Given the description of an element on the screen output the (x, y) to click on. 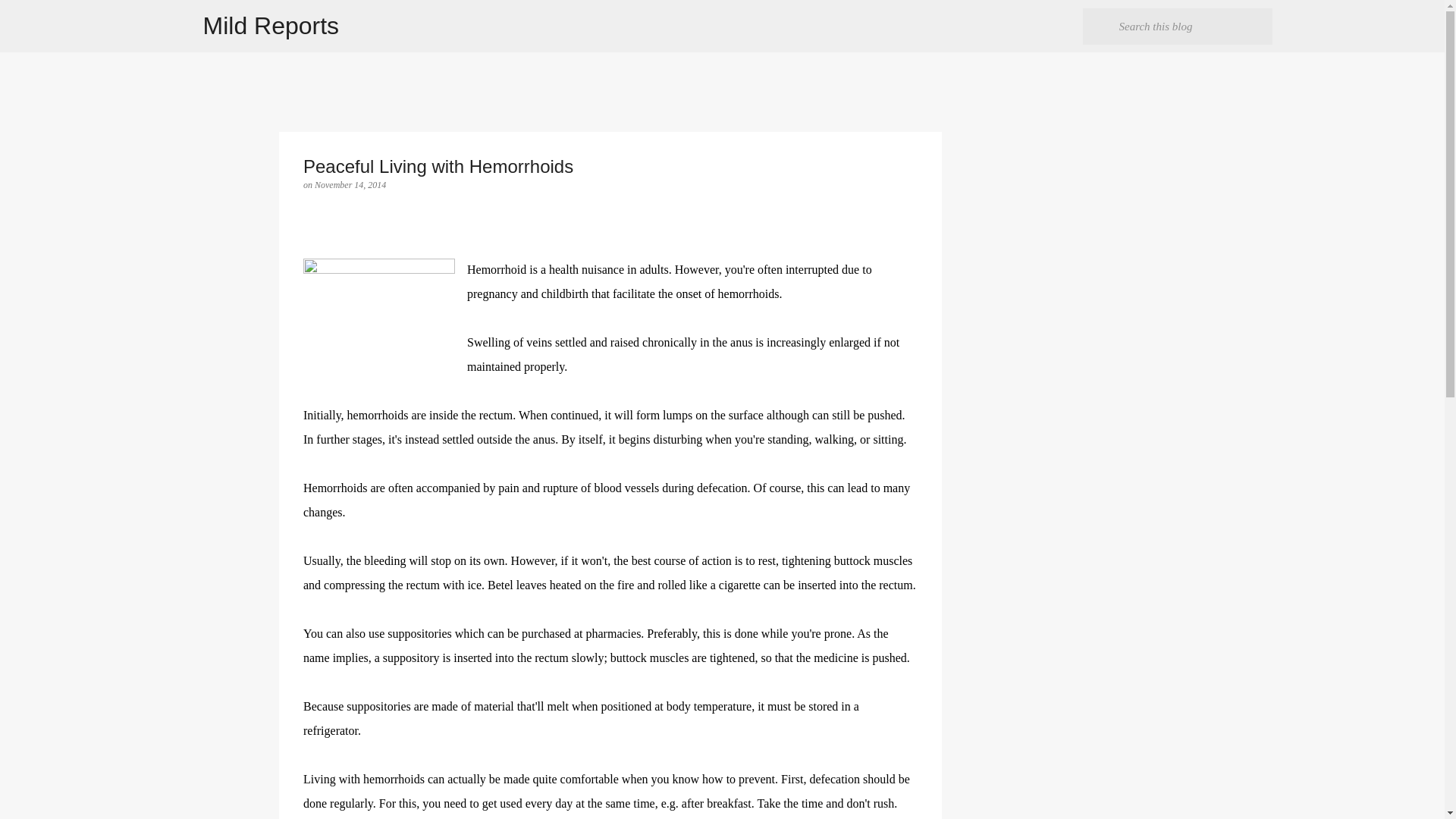
Mild Reports (271, 25)
permanent link (349, 184)
November 14, 2014 (349, 184)
